Given the description of an element on the screen output the (x, y) to click on. 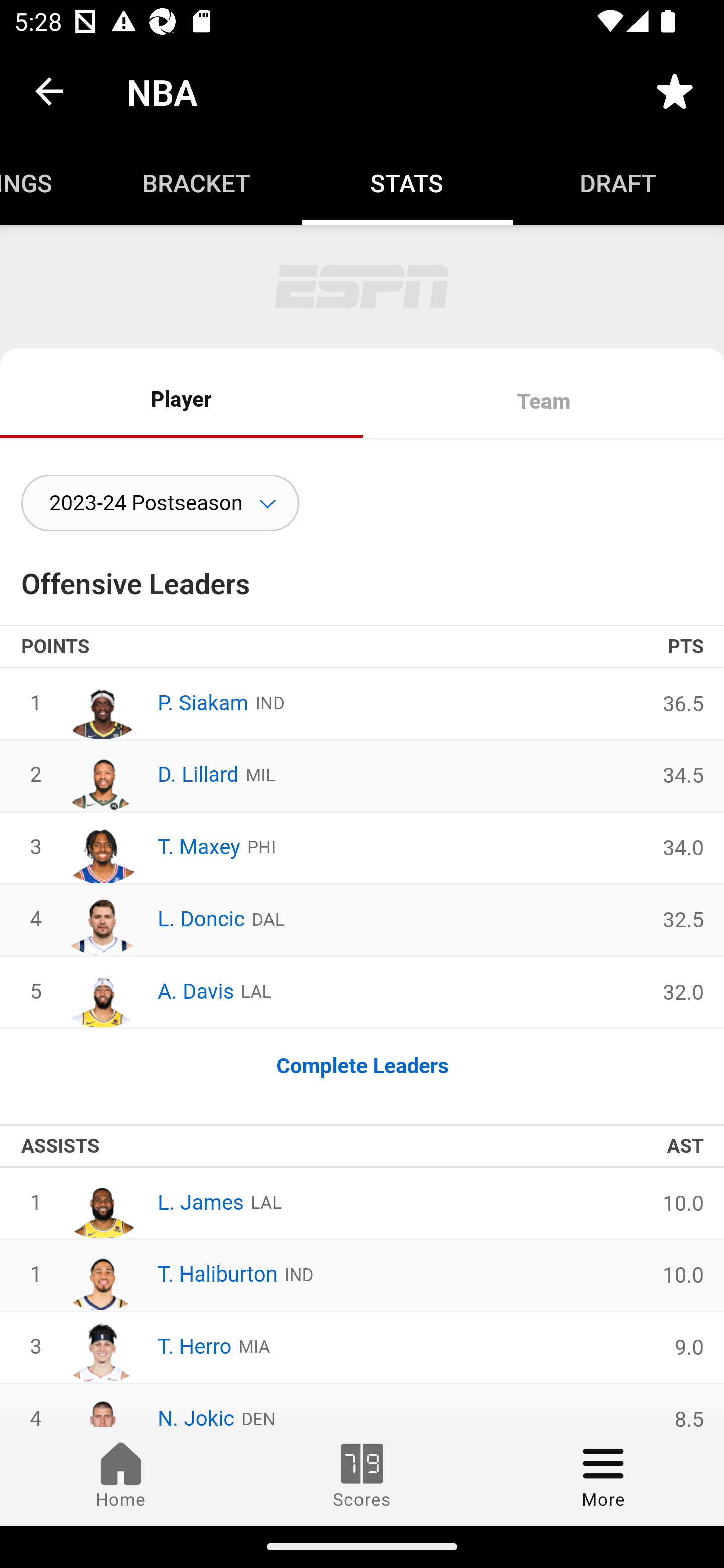
back.button (49, 90)
Favorite toggle (674, 90)
Bracket BRACKET (195, 183)
Draft DRAFT (618, 183)
Player (182, 399)
Team (543, 402)
P. Siakam Pascal Siakam P. Siakam (153, 702)
D. Lillard Damian Lillard D. Lillard (148, 775)
T. Maxey Tyrese Maxey T. Maxey (149, 848)
L. Doncic Luka Doncic L. Doncic (151, 919)
A. Davis Anthony Davis A. Davis (146, 992)
Complete Leaders (362, 1066)
L. James LeBron James L. James (150, 1203)
T. Haliburton Tyrese Haliburton T. Haliburton (167, 1275)
T. Herro Tyler Herro T. Herro (144, 1347)
Home (120, 1475)
Scores (361, 1475)
